Given the description of an element on the screen output the (x, y) to click on. 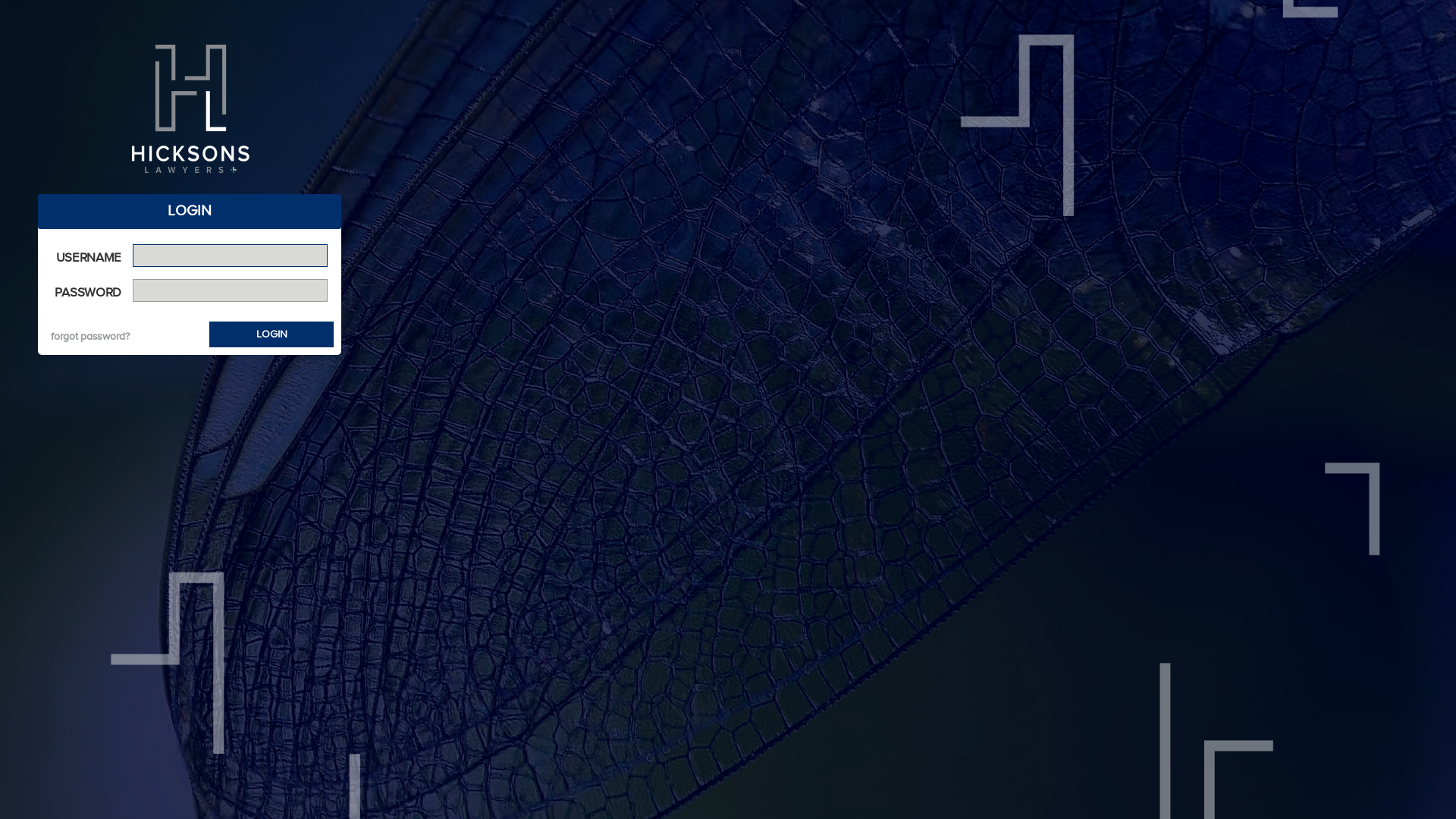
forgot password? Element type: text (90, 336)
Login Element type: text (271, 334)
